Given the description of an element on the screen output the (x, y) to click on. 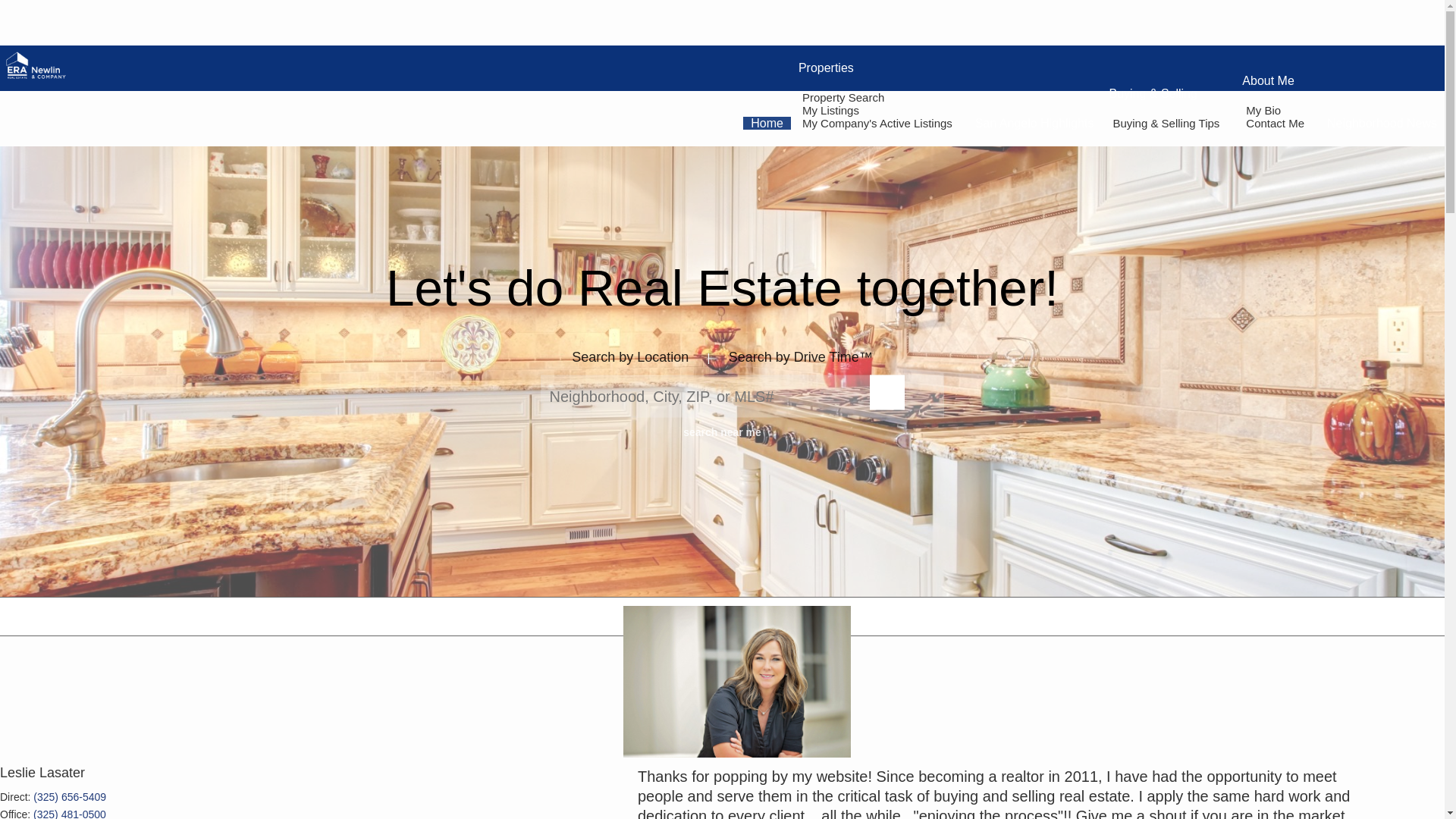
Home (766, 123)
Contact Me (1276, 122)
Property Search (844, 97)
Neighborhood News (1381, 123)
Properties (825, 67)
My Listings (832, 109)
San Angelo Highlights (1035, 123)
My Bio (1264, 109)
My Company's Active Listings (879, 122)
About Me (1267, 80)
